Given the description of an element on the screen output the (x, y) to click on. 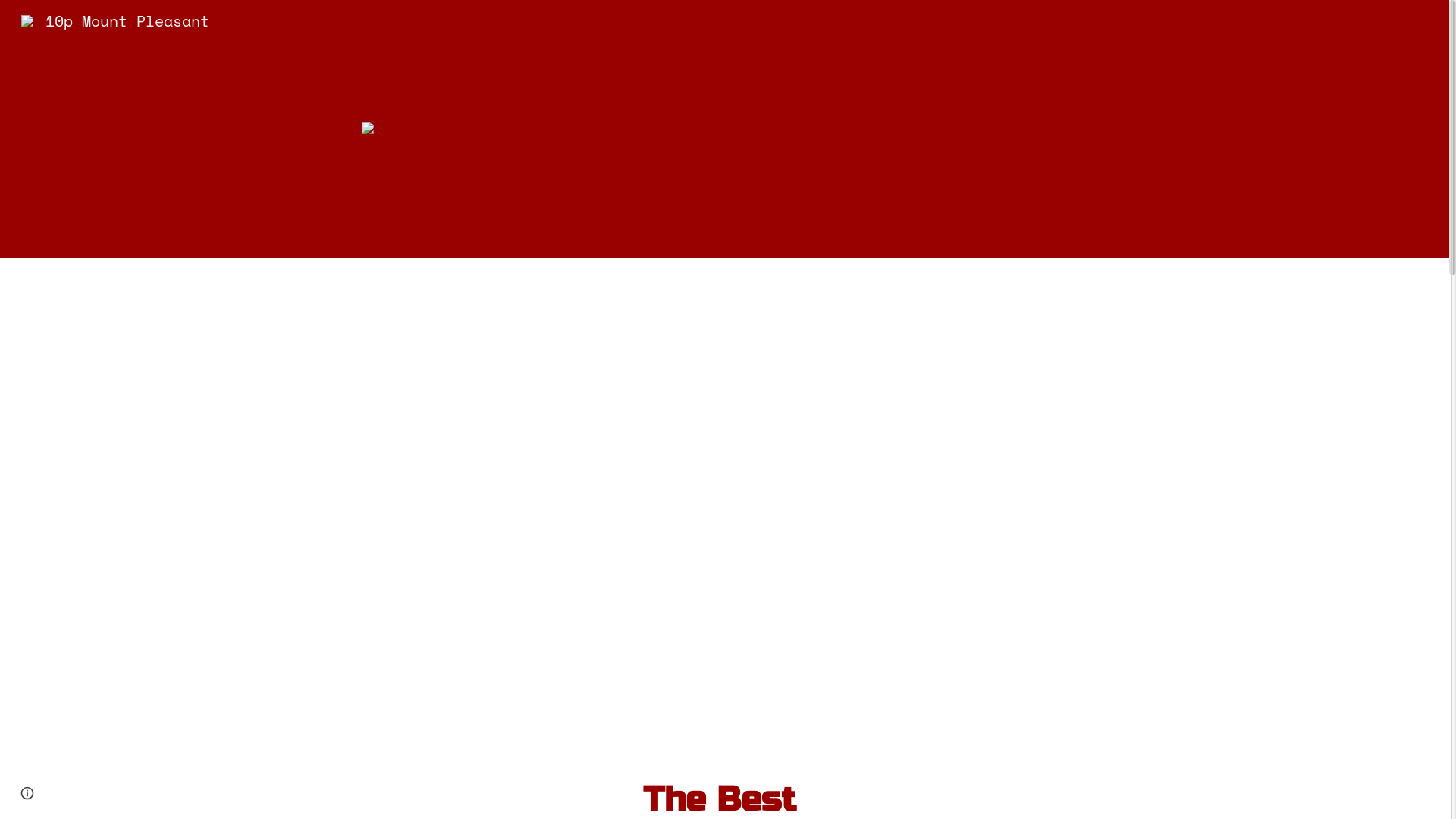
10p Mount Pleasant Element type: text (115, 19)
